Given the description of an element on the screen output the (x, y) to click on. 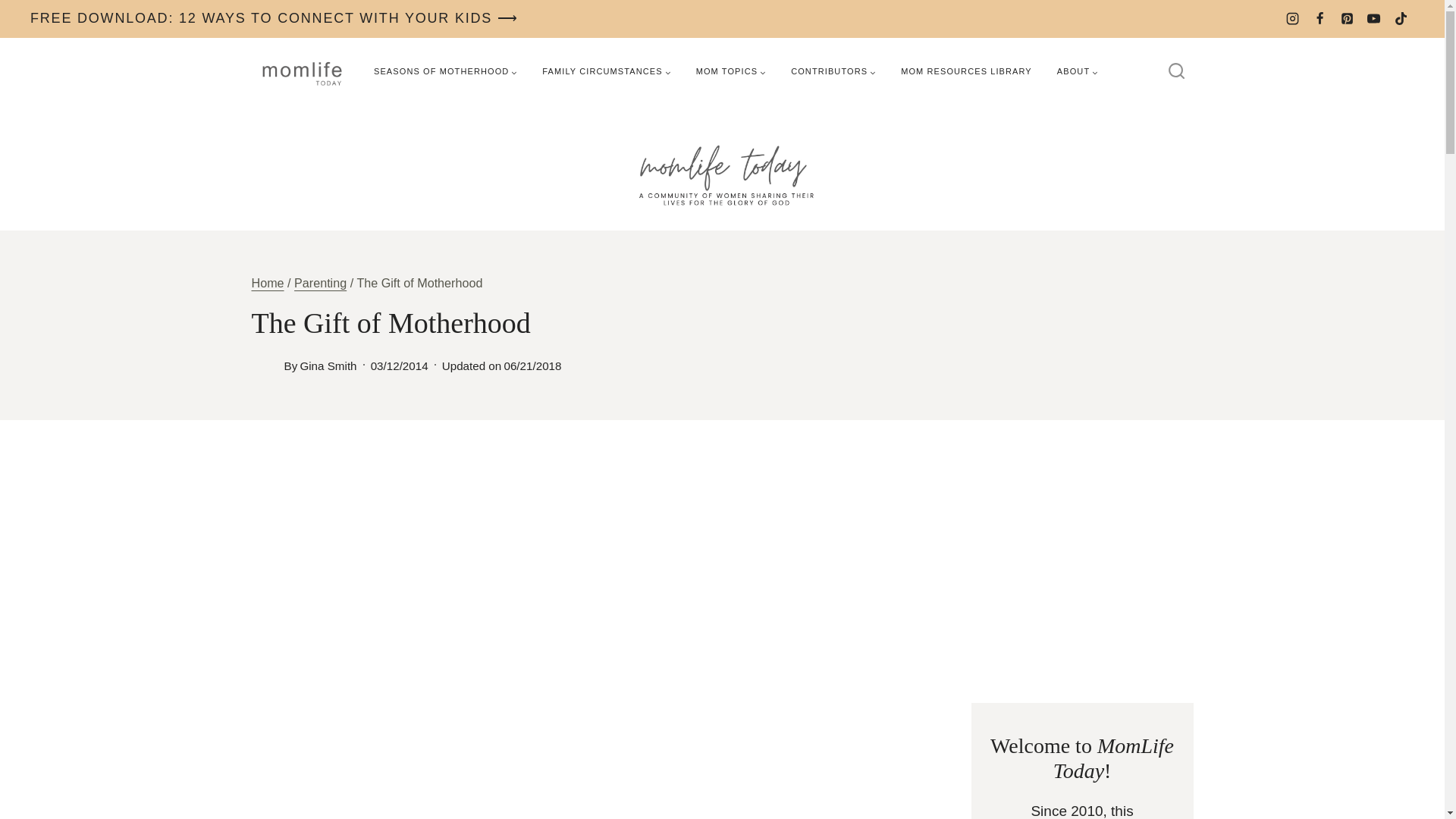
MOM TOPICS (730, 71)
CONTRIBUTORS (833, 71)
SEASONS OF MOTHERHOOD (445, 71)
FAMILY CIRCUMSTANCES (605, 71)
MOM RESOURCES LIBRARY (966, 71)
